Given the description of an element on the screen output the (x, y) to click on. 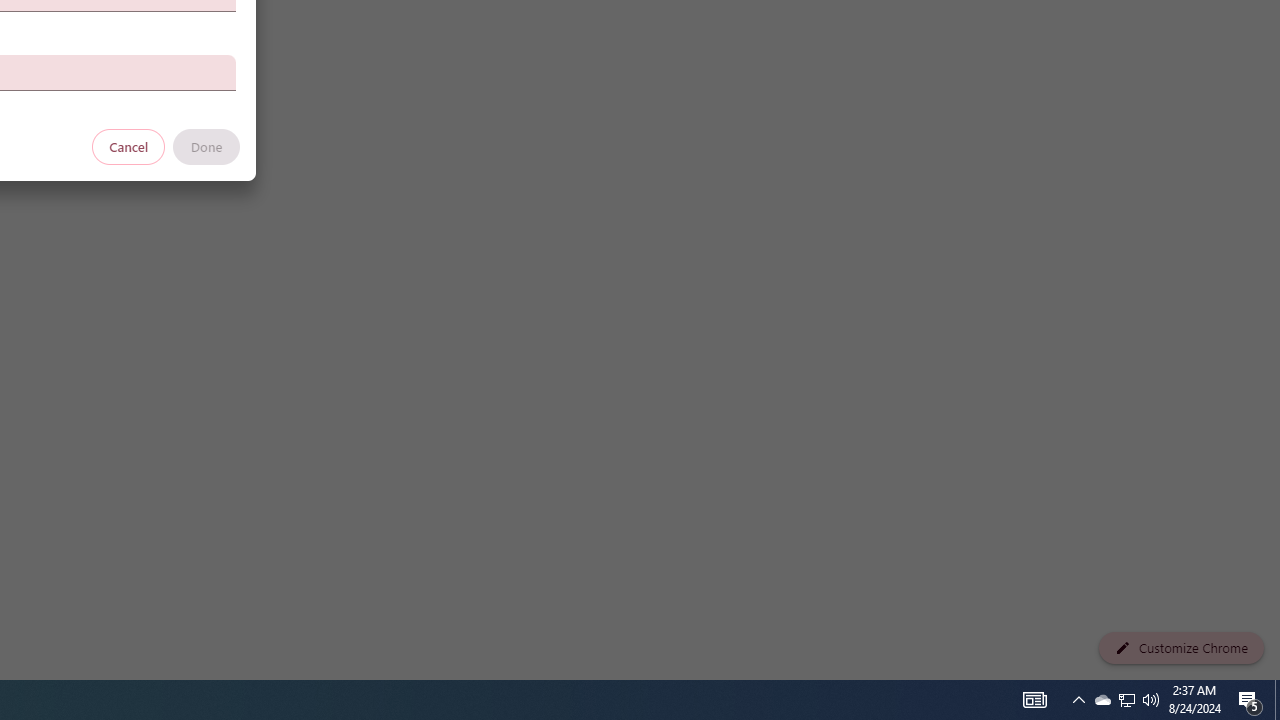
Done (206, 146)
Cancel (129, 146)
